Given the description of an element on the screen output the (x, y) to click on. 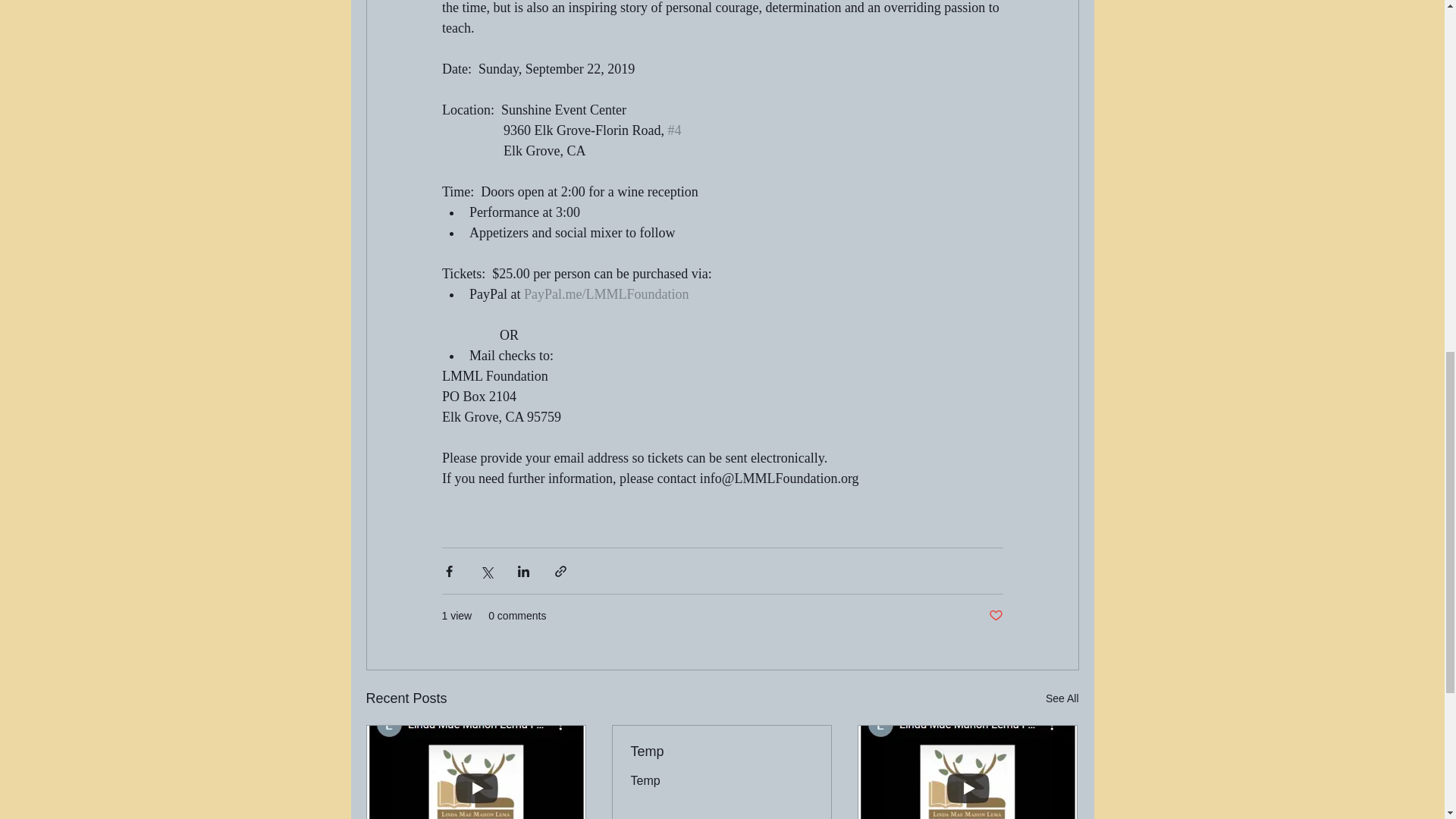
Post not marked as liked (995, 616)
Temp (721, 751)
See All (1061, 698)
